Given the description of an element on the screen output the (x, y) to click on. 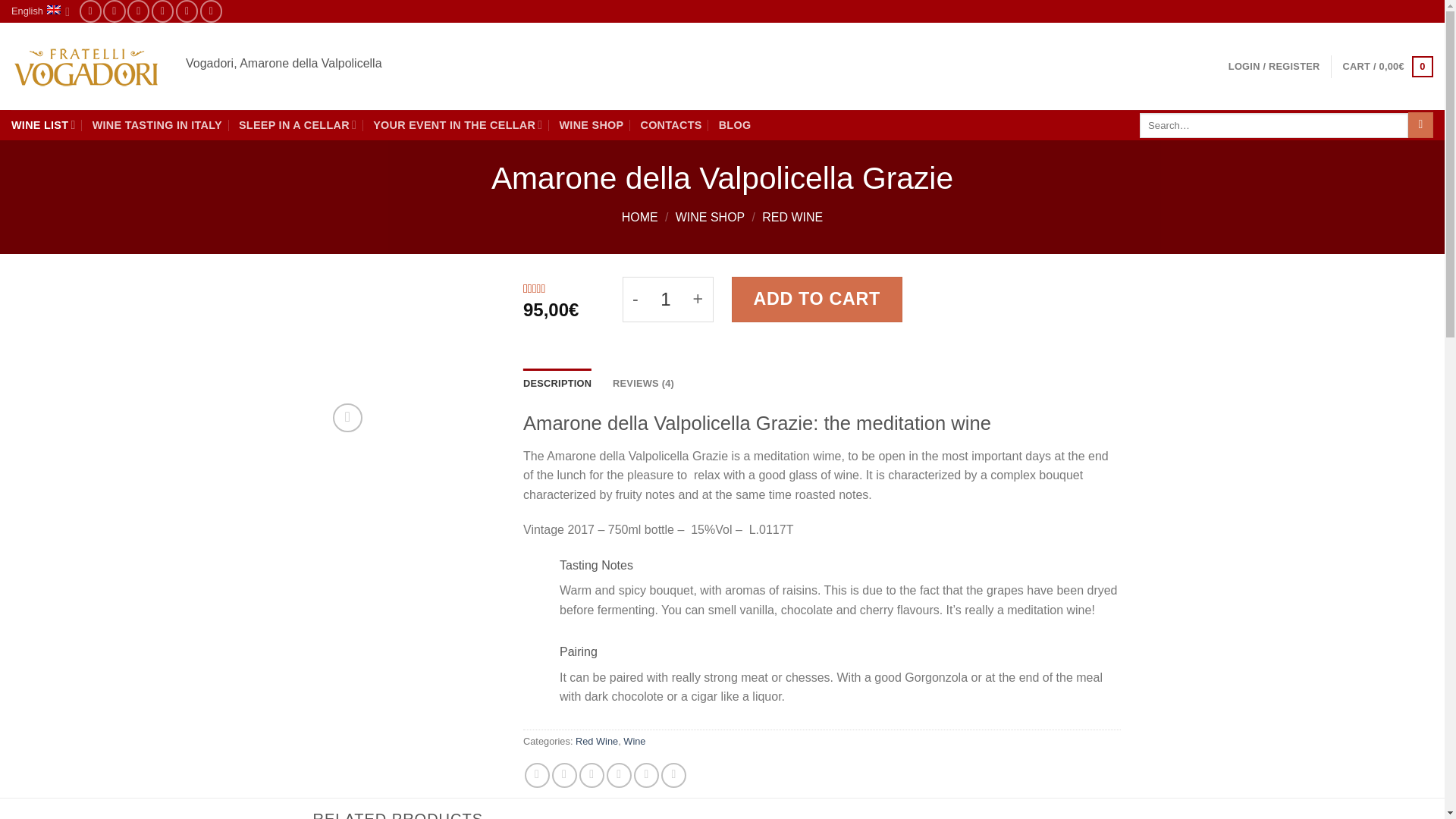
WINE LIST (43, 124)
Follow on Pinterest (187, 11)
Share on Twitter (563, 774)
Zoom (347, 418)
Follow on Instagram (114, 11)
Follow on Twitter (138, 11)
Follow on YouTube (211, 11)
Follow on Facebook (90, 11)
Send us an email (162, 11)
Share on Facebook (537, 774)
